Given the description of an element on the screen output the (x, y) to click on. 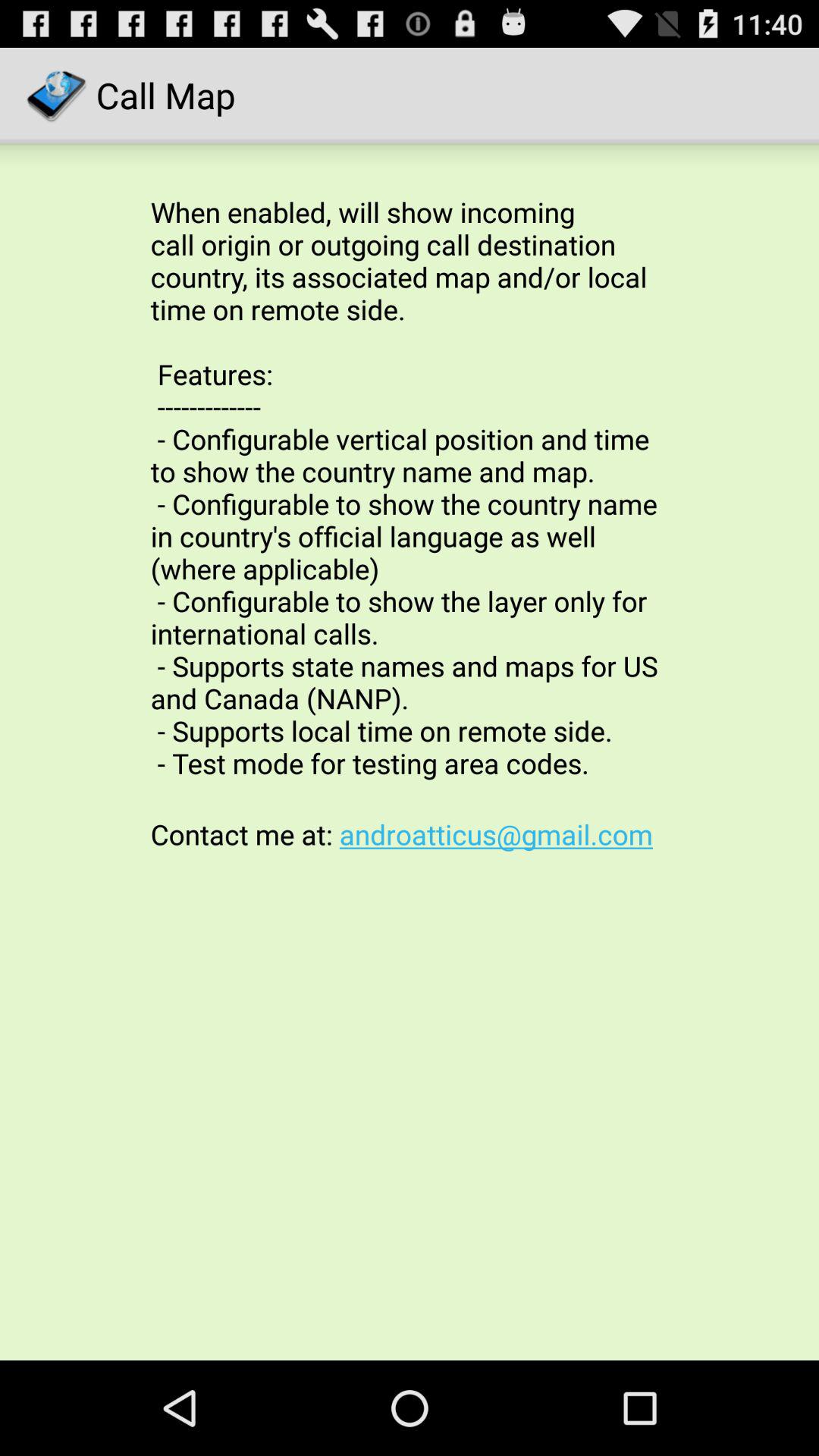
swipe until contact me at (409, 834)
